Given the description of an element on the screen output the (x, y) to click on. 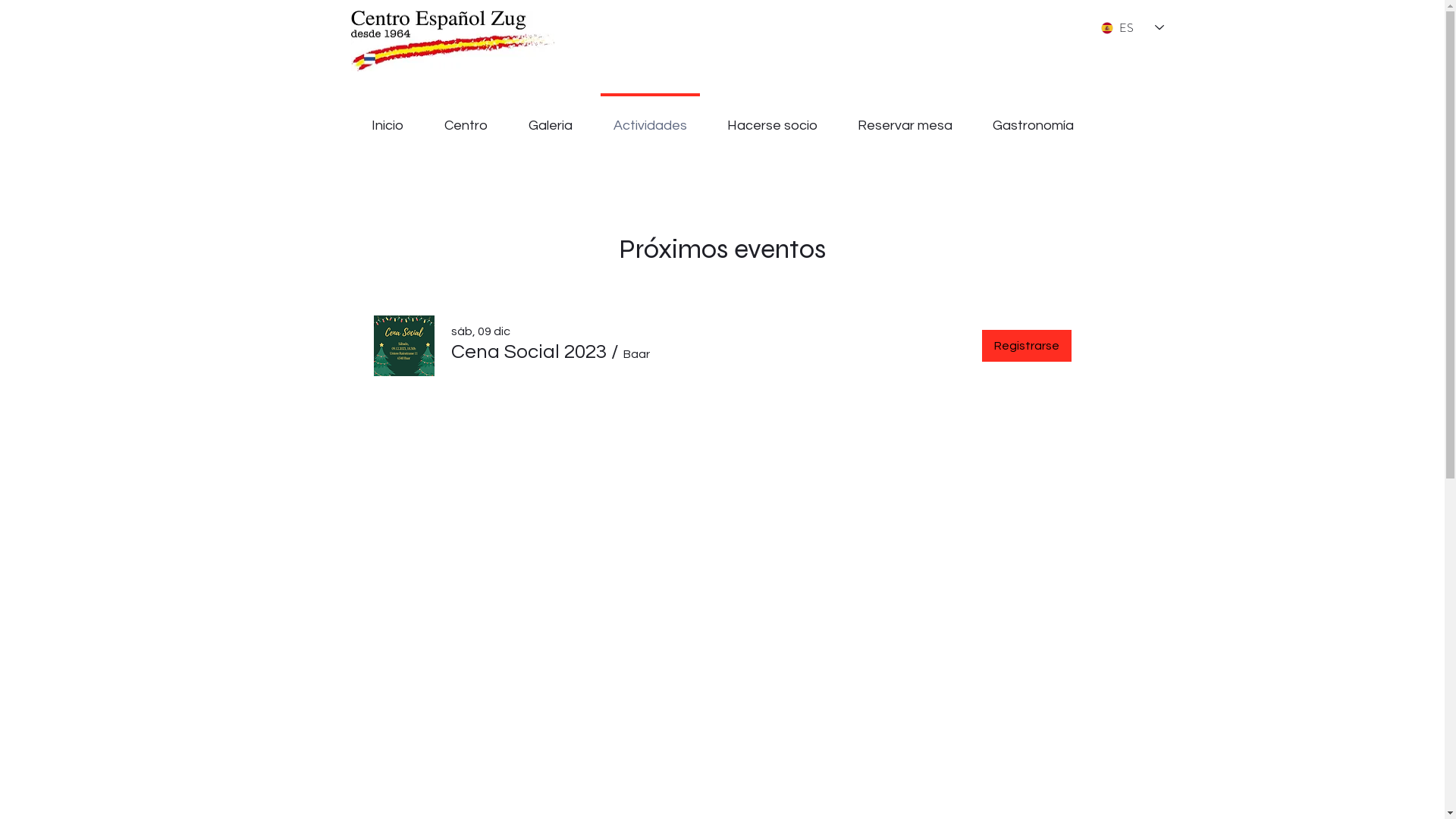
Hacerse socio Element type: text (771, 118)
Centro Element type: text (465, 118)
Inicio Element type: text (386, 118)
Registrarse Element type: text (1025, 345)
Galeria Element type: text (550, 118)
Reservar mesa Element type: text (904, 118)
Actividades Element type: text (650, 118)
